Given the description of an element on the screen output the (x, y) to click on. 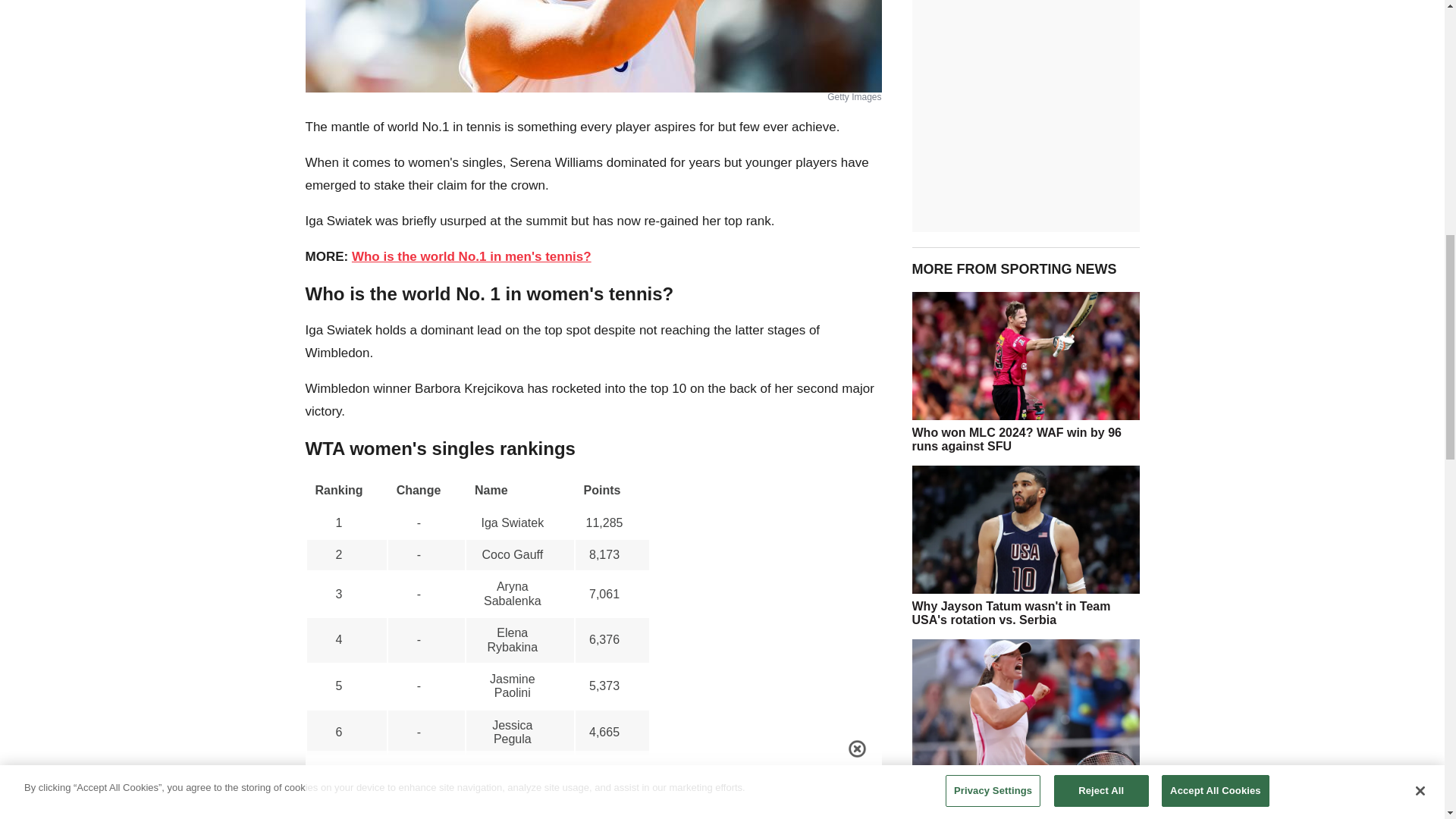
Jayson Tatum (1024, 529)
Iga Swiatek at the French Open (1024, 703)
3rd party ad content (1024, 816)
